Given the description of an element on the screen output the (x, y) to click on. 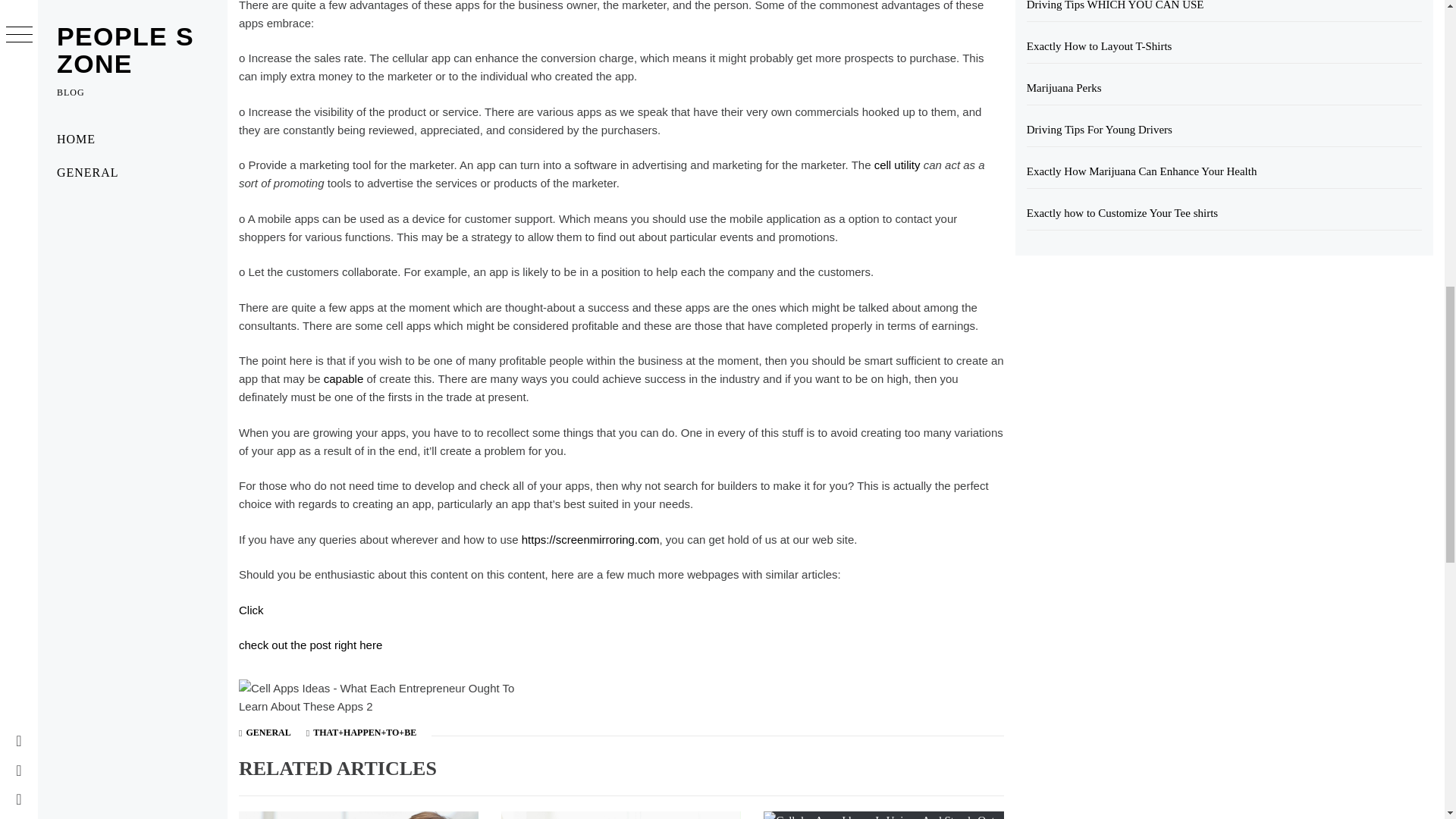
capable (343, 378)
GENERAL (267, 732)
Click (250, 609)
check out the post right here (309, 644)
cell utility (897, 164)
